Given the description of an element on the screen output the (x, y) to click on. 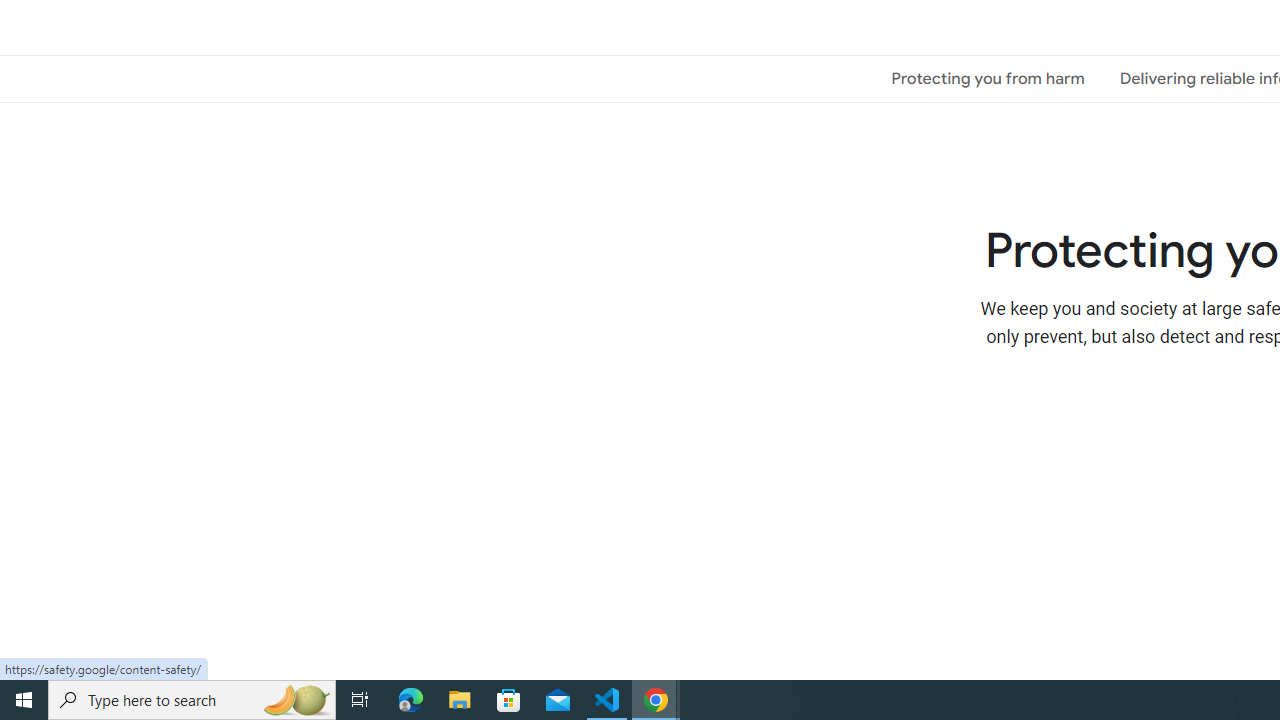
Protecting you from harm (987, 78)
